Given the description of an element on the screen output the (x, y) to click on. 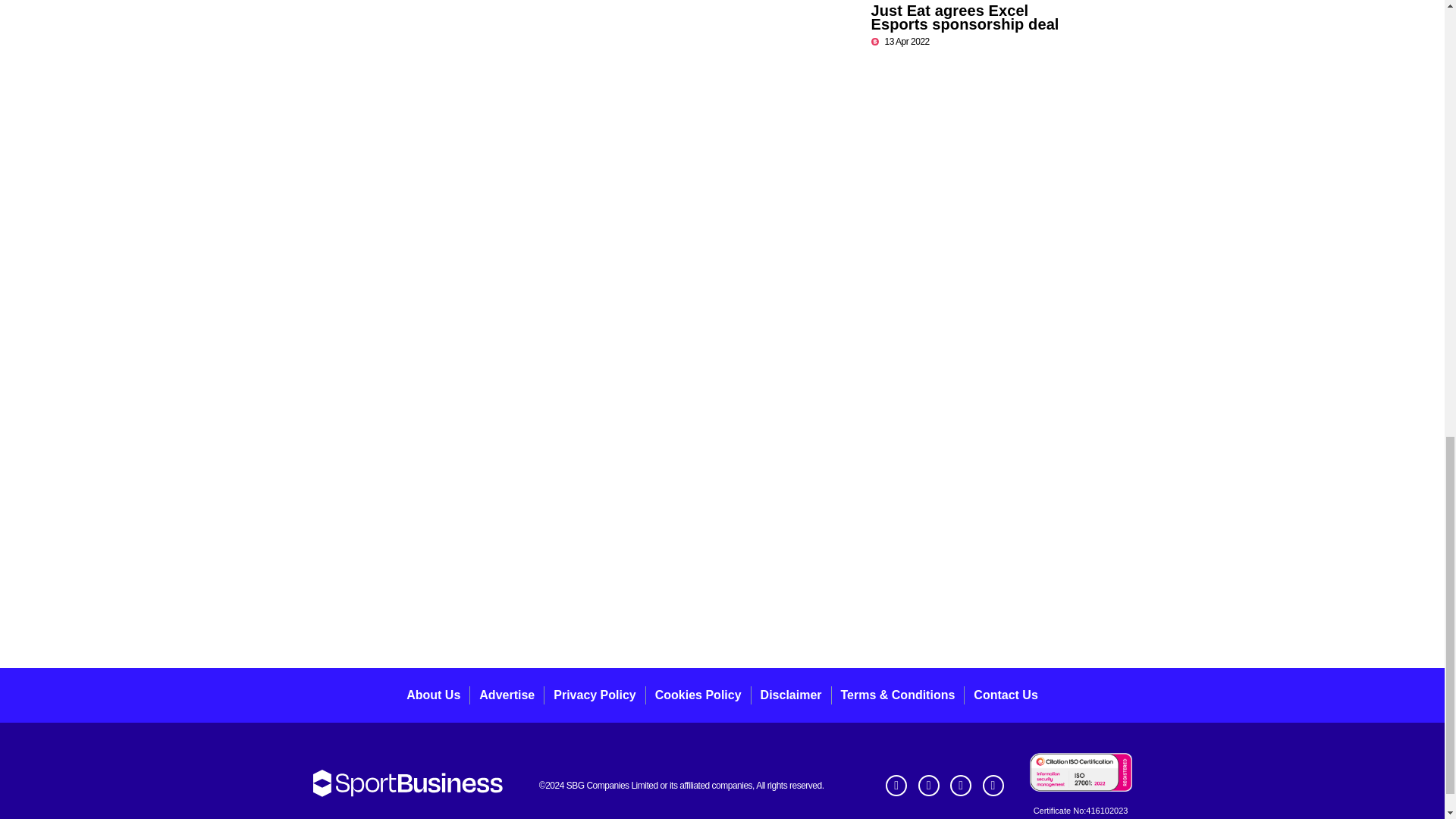
ISO 27001 : 2022 (1080, 771)
3rd party ad content (983, 311)
3rd party ad content (721, 603)
